Given the description of an element on the screen output the (x, y) to click on. 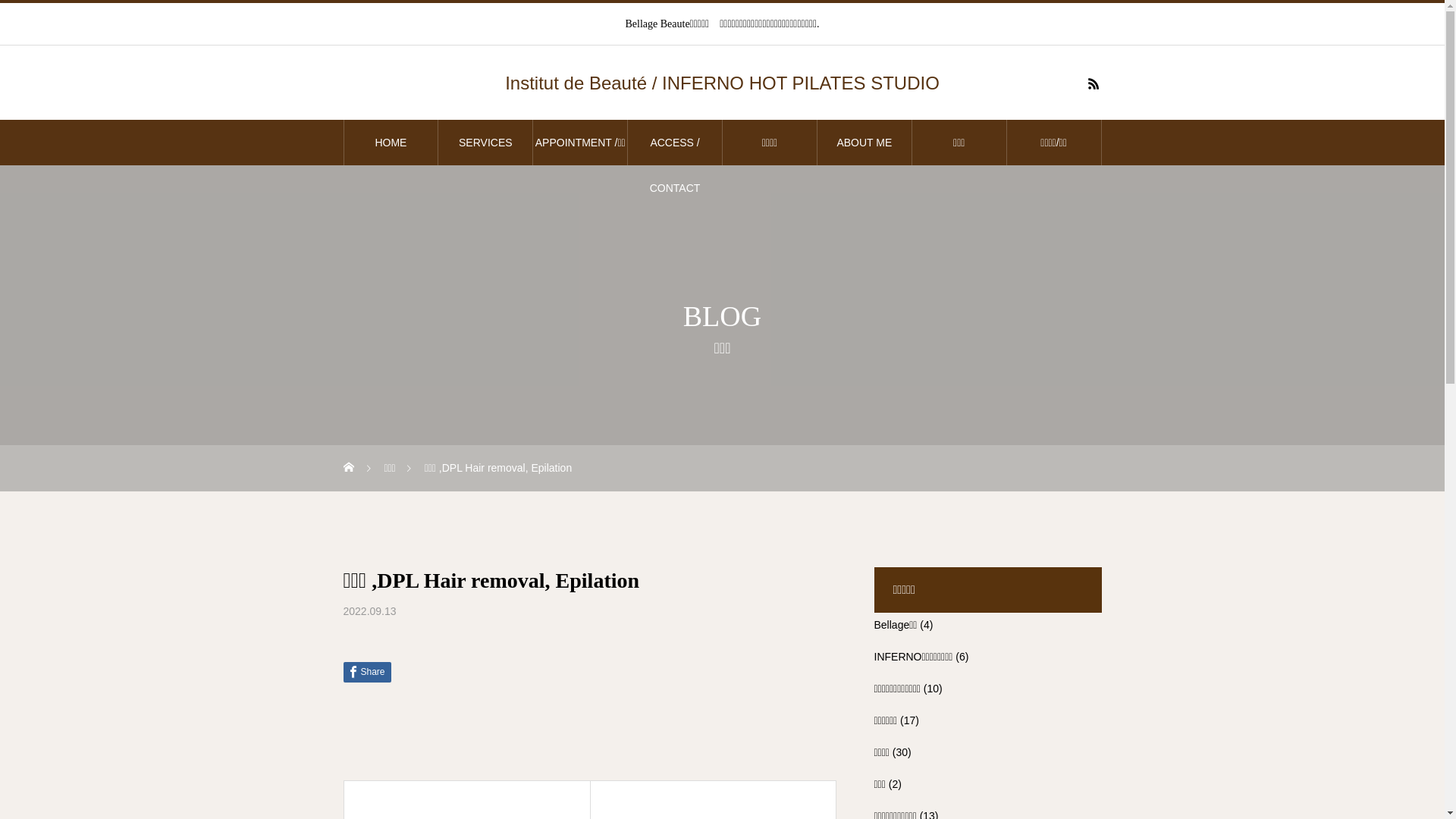
ABOUT ME Element type: text (864, 142)
SERVICES Element type: text (485, 142)
RSS Element type: hover (1093, 83)
Share Element type: text (366, 672)
HOME Element type: text (391, 142)
ACCESS / CONTACT Element type: text (674, 142)
